Given the description of an element on the screen output the (x, y) to click on. 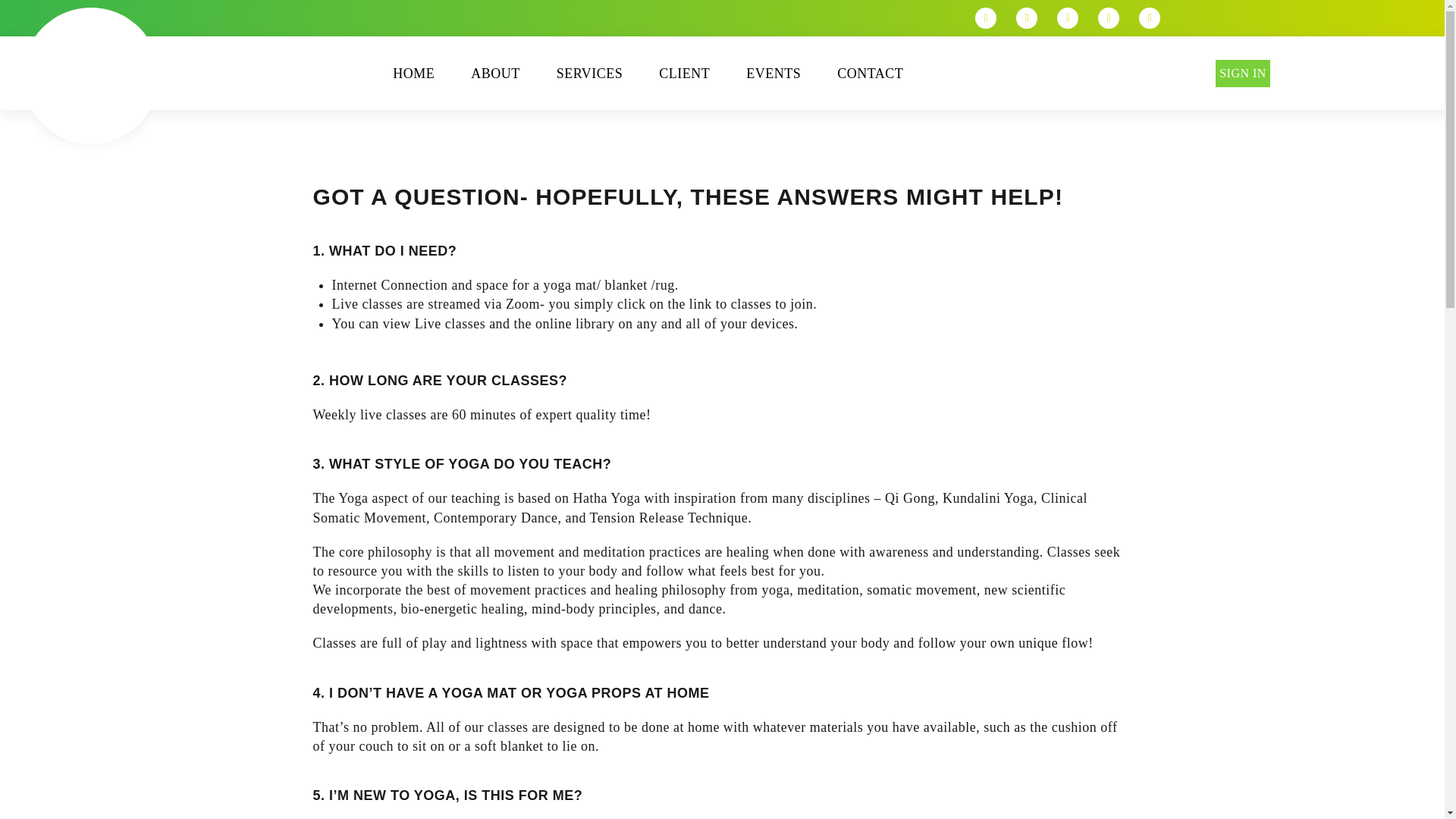
CONTACT (870, 72)
HOME (413, 72)
EVENTS (773, 72)
ABOUT (495, 72)
SERVICES (589, 72)
CLIENT (683, 72)
